Given the description of an element on the screen output the (x, y) to click on. 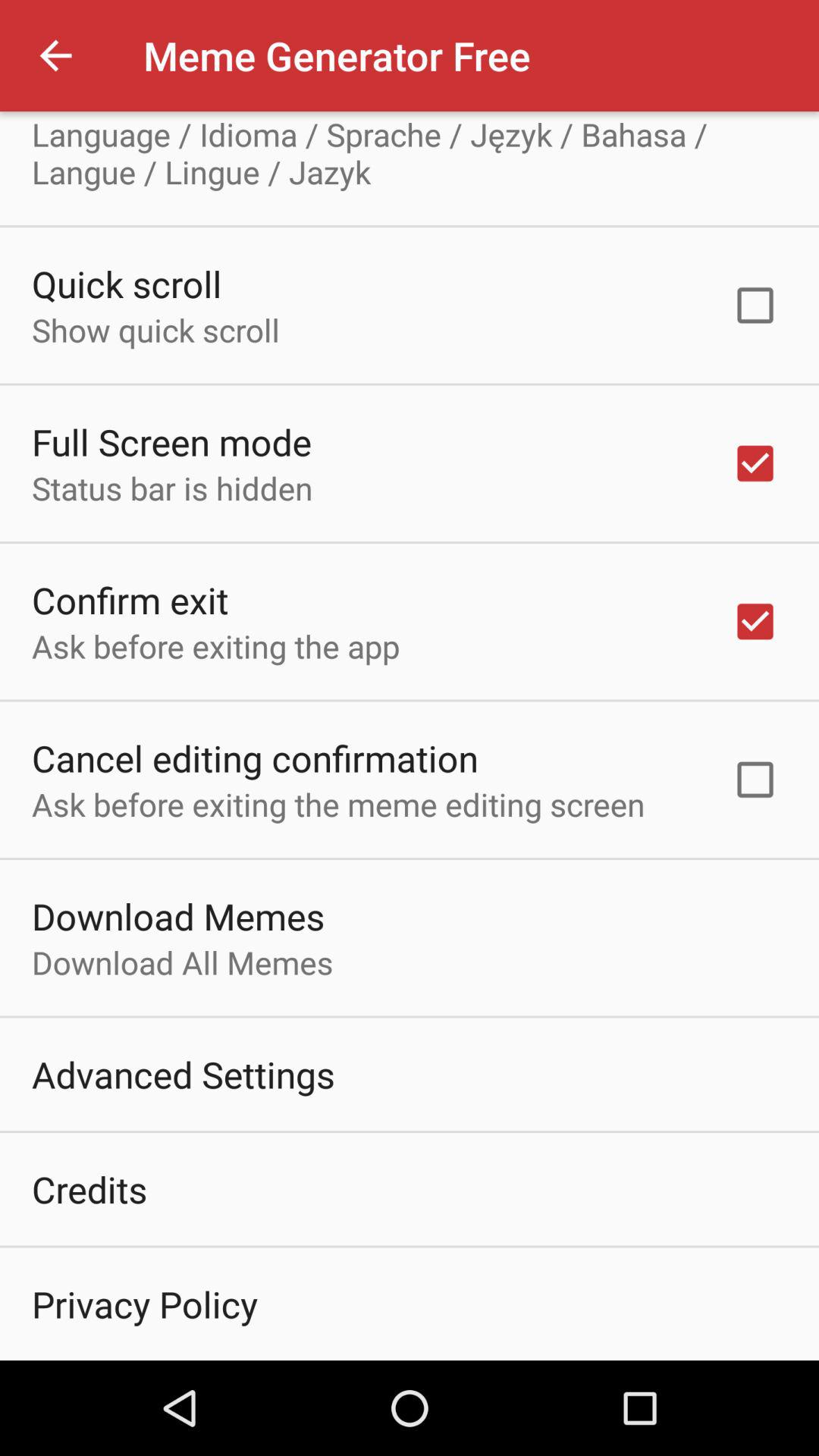
click icon above ask before exiting item (254, 757)
